Given the description of an element on the screen output the (x, y) to click on. 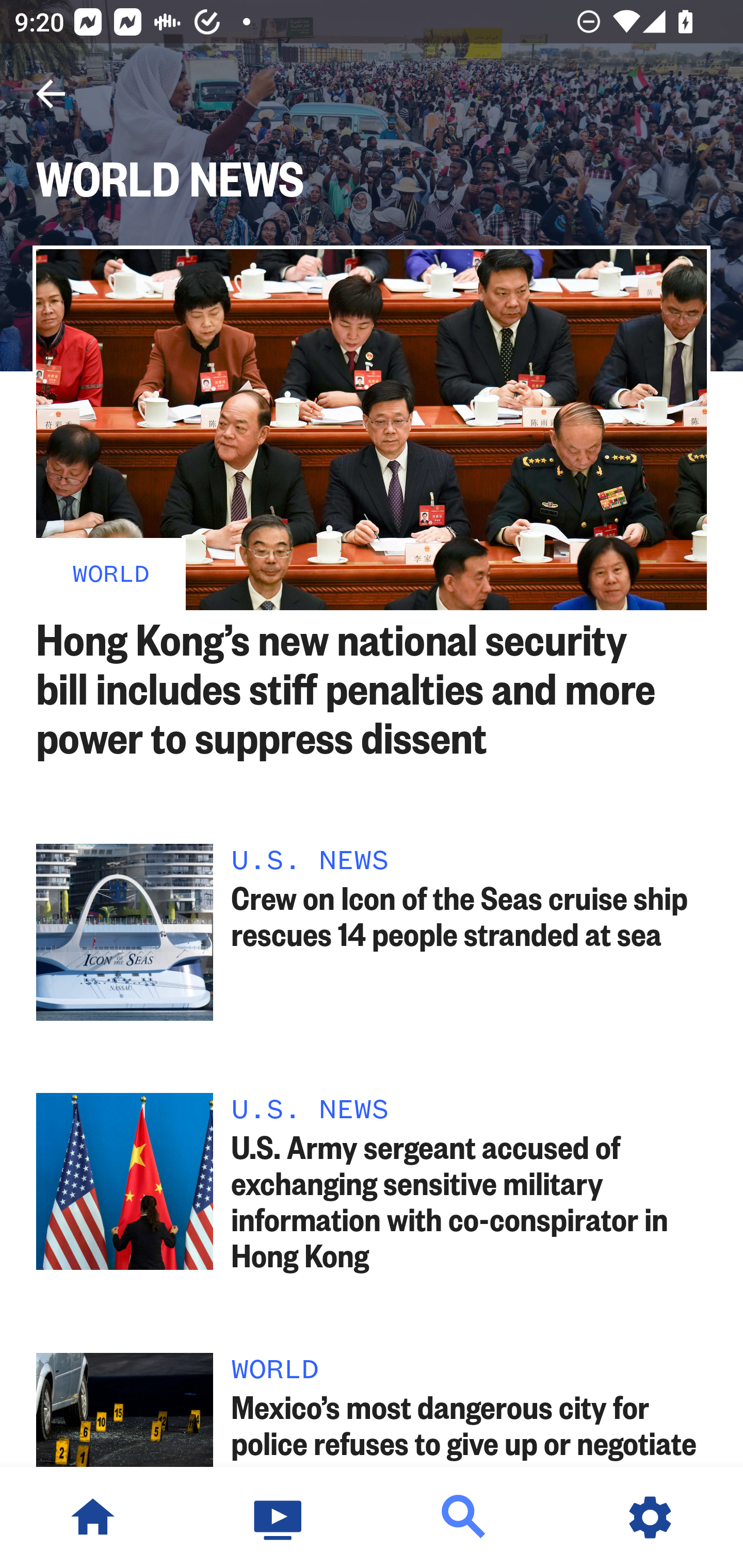
Navigate up (50, 93)
NBC News Home (92, 1517)
Watch (278, 1517)
Settings (650, 1517)
